Given the description of an element on the screen output the (x, y) to click on. 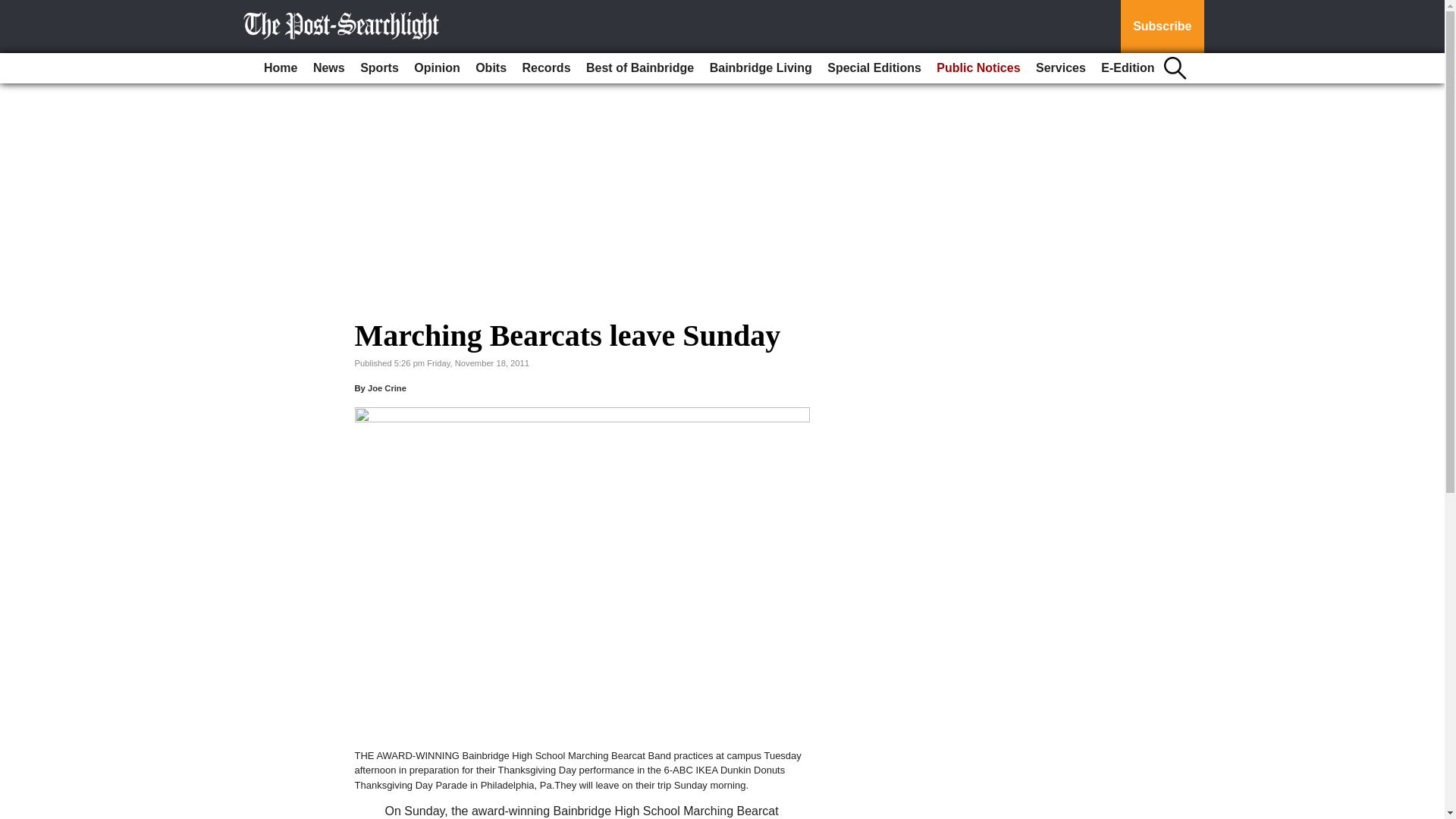
Opinion (436, 68)
Home (279, 68)
Obits (490, 68)
Public Notices (978, 68)
Special Editions (874, 68)
Services (1060, 68)
Bainbridge Living (760, 68)
Joe Crine (387, 388)
Go (13, 9)
